Given the description of an element on the screen output the (x, y) to click on. 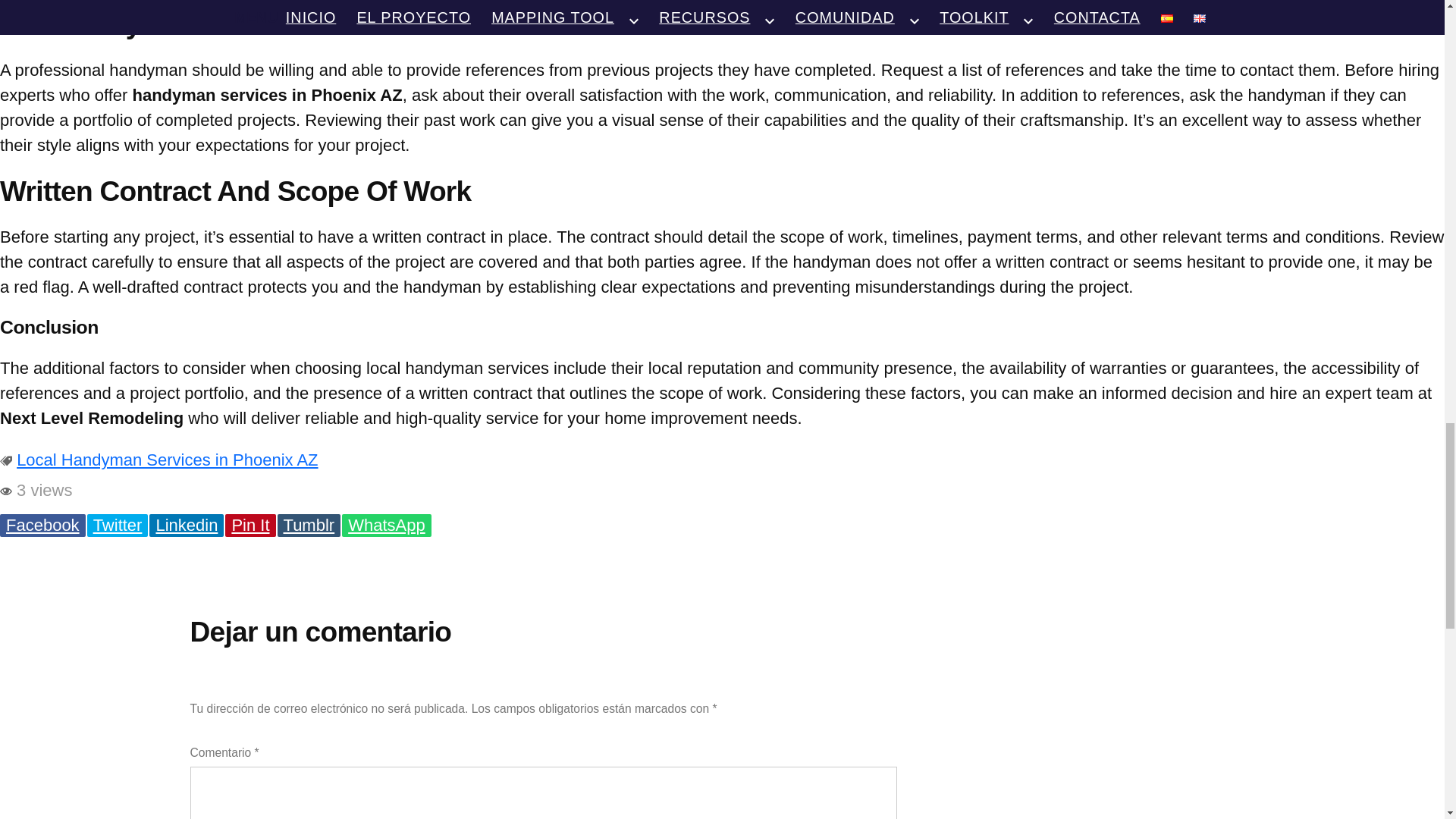
Twitter (117, 525)
Pin It (250, 525)
Linkedin (186, 525)
Local Handyman Services in Phoenix AZ (166, 459)
Facebook (42, 525)
